Given the description of an element on the screen output the (x, y) to click on. 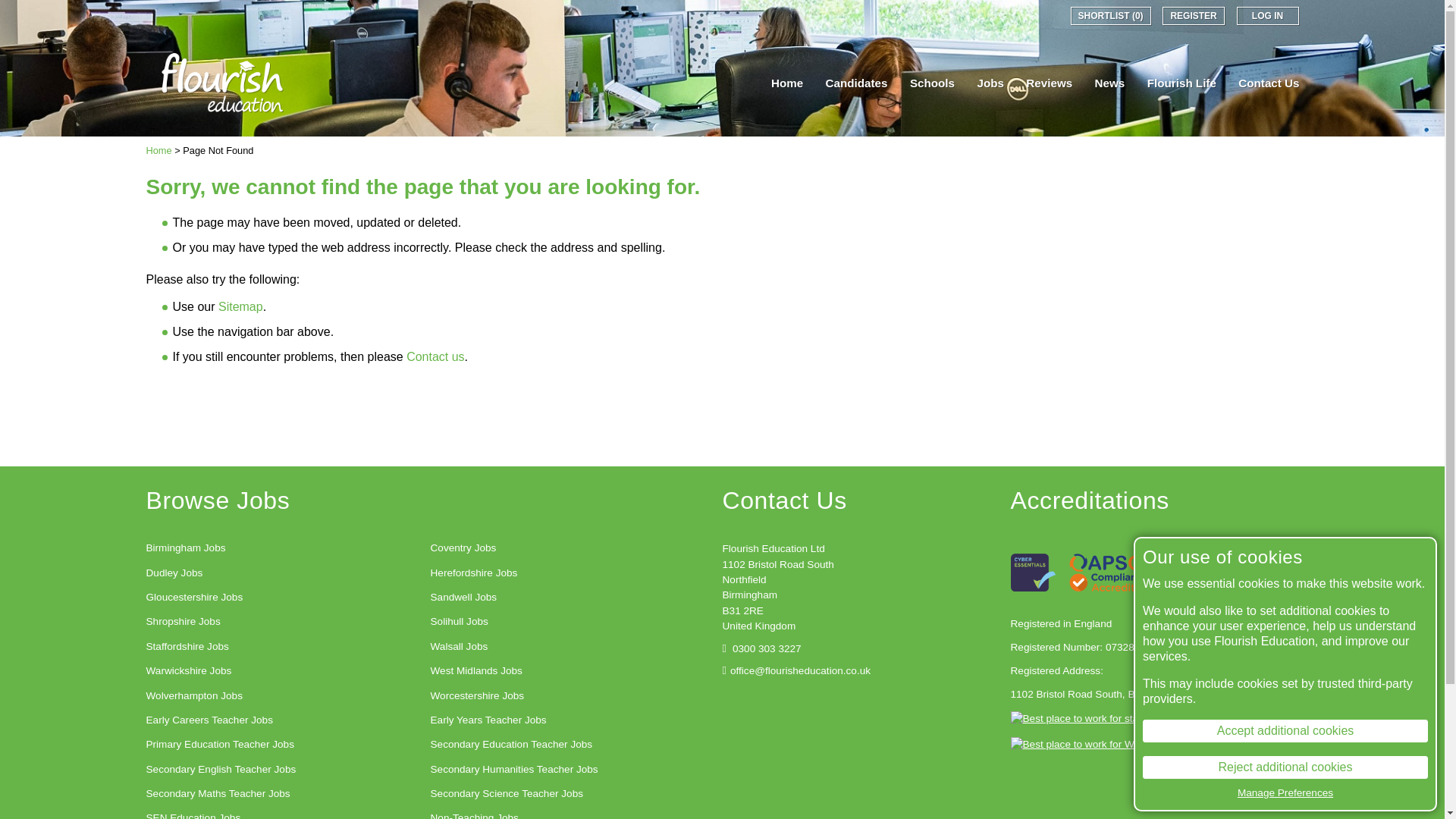
West Midlands Jobs (476, 670)
Walsall Jobs (458, 646)
Solihull Jobs (458, 621)
Follow us on X (969, 15)
Contact us (435, 356)
FOLLOW US ON FACEBOOK (991, 15)
Schools (932, 83)
Coventry Jobs (463, 547)
Sandwell Jobs (463, 597)
Warwickshire Jobs (188, 670)
